Given the description of an element on the screen output the (x, y) to click on. 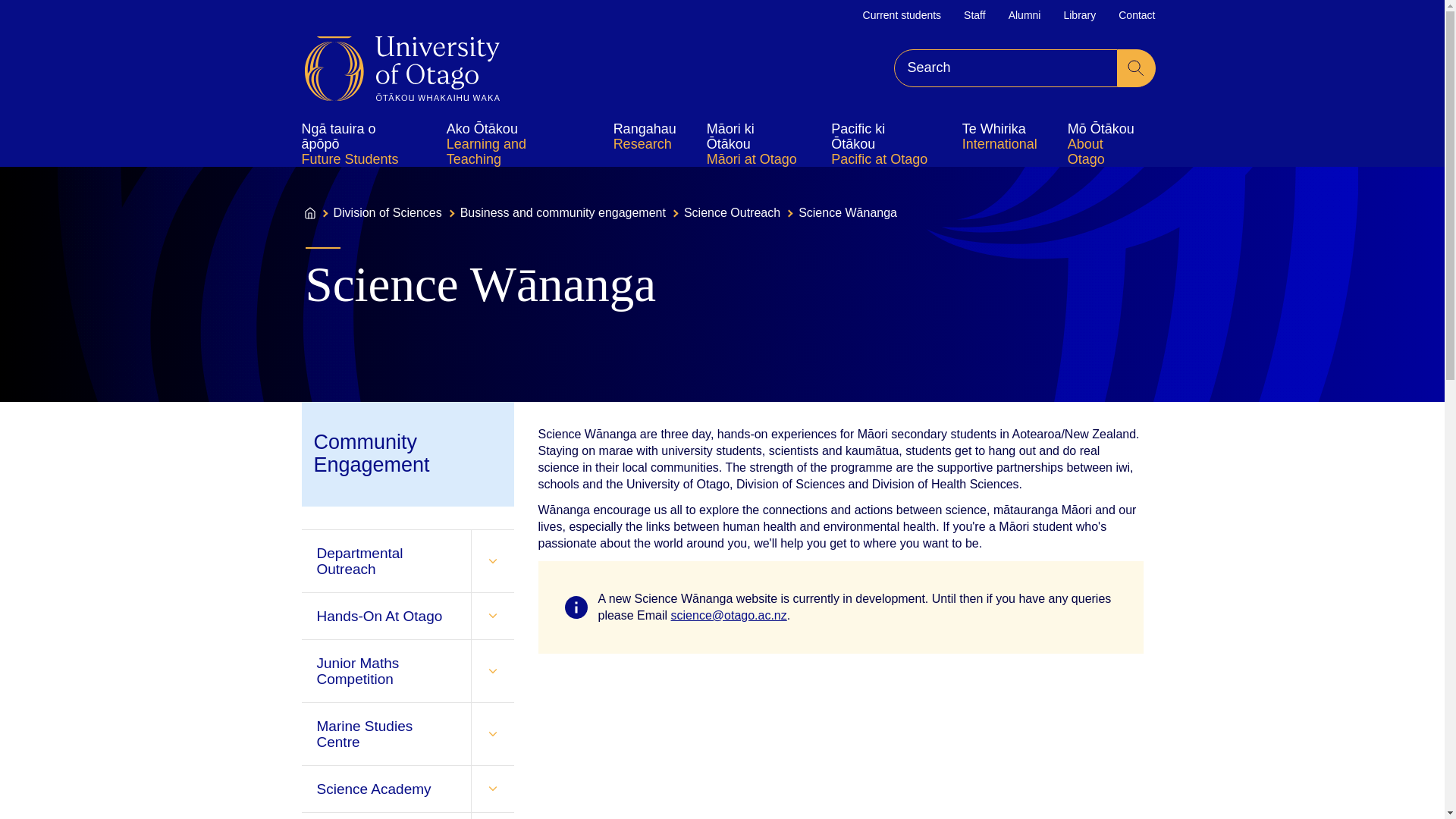
Contact (1136, 15)
Staff (974, 15)
Home (402, 68)
Library (1079, 15)
Current students (902, 15)
Alumni (1025, 15)
